Given the description of an element on the screen output the (x, y) to click on. 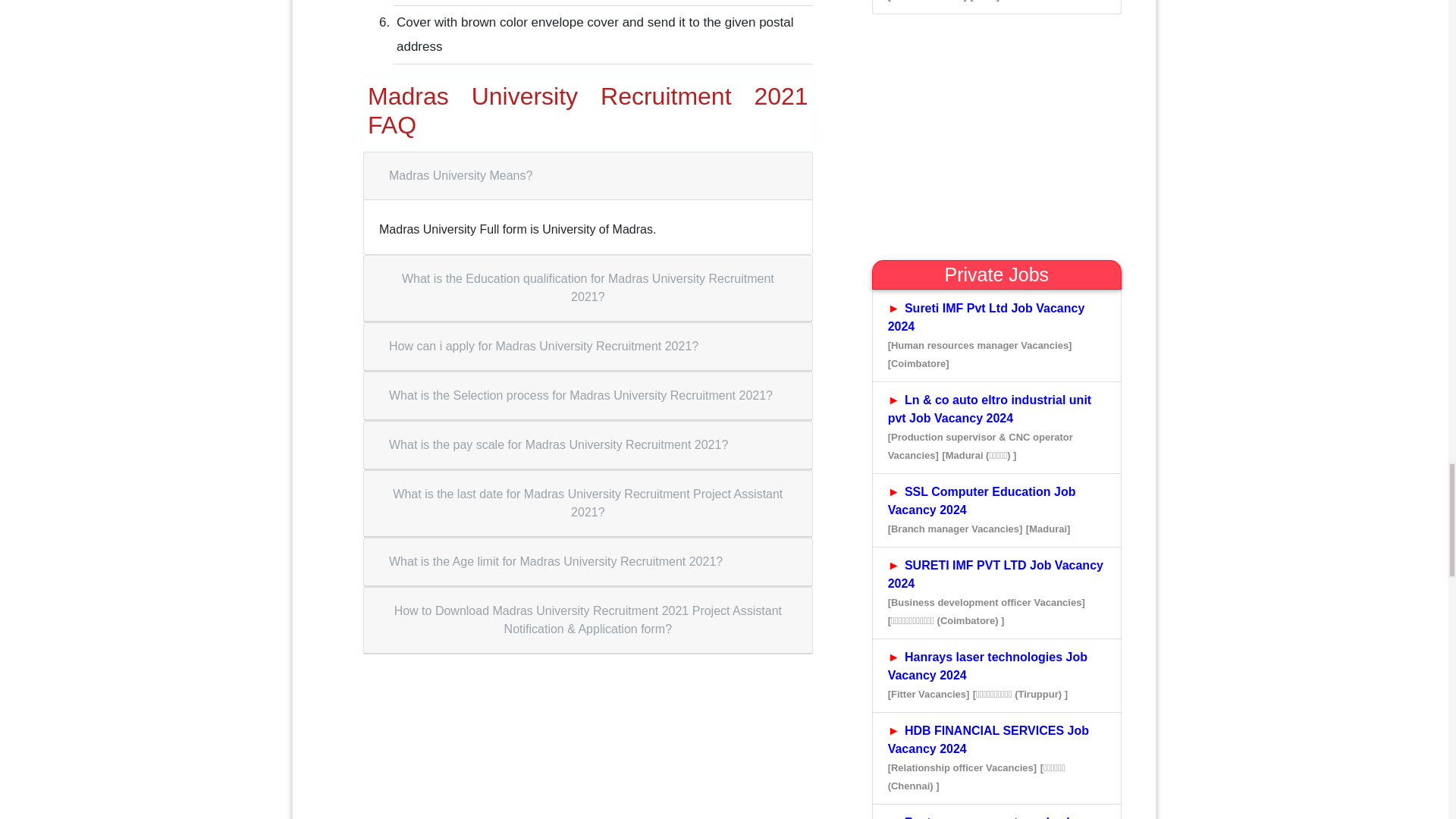
How can i apply for Madras University Recruitment 2021? (542, 346)
Madras University Means? (459, 175)
